Given the description of an element on the screen output the (x, y) to click on. 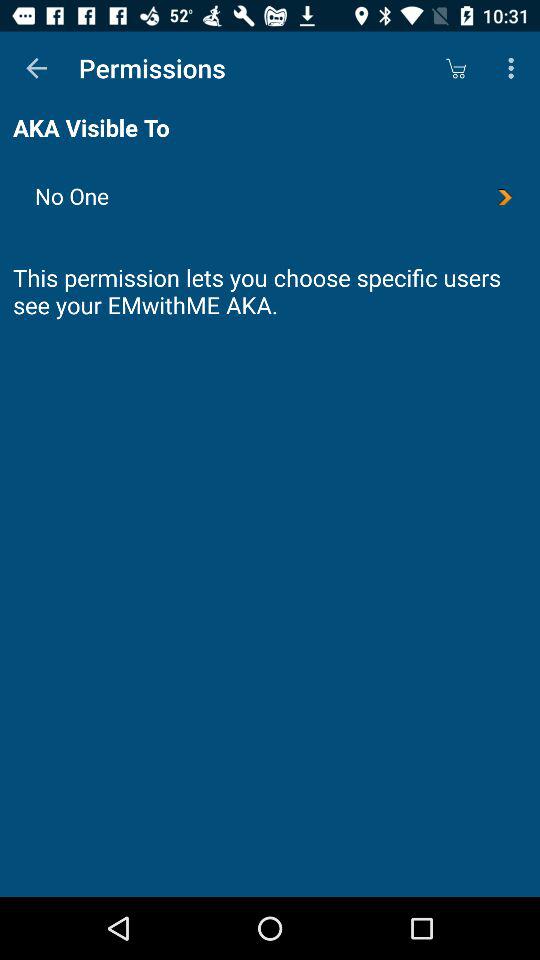
choose the item above the no one icon (513, 67)
